Given the description of an element on the screen output the (x, y) to click on. 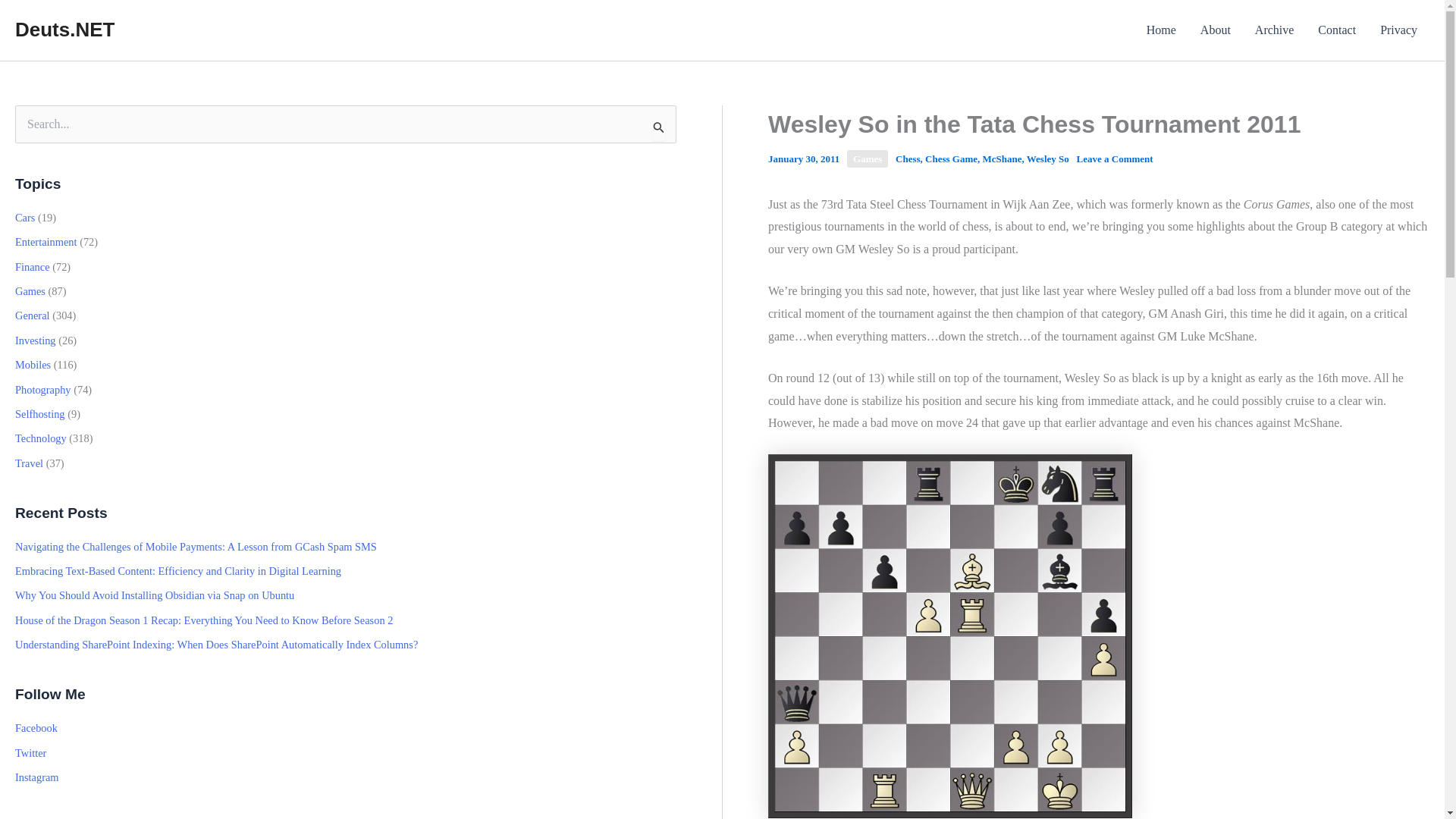
Selfhosting (39, 413)
Finance (31, 266)
Instagram (36, 776)
Deuts.NET (64, 29)
Technology (40, 438)
Facebook (36, 727)
Entertainment (45, 241)
Mobiles (32, 364)
position-after-move-24 (950, 636)
Twitter (30, 752)
Contact (1337, 30)
Games (867, 158)
Archive (1274, 30)
